Given the description of an element on the screen output the (x, y) to click on. 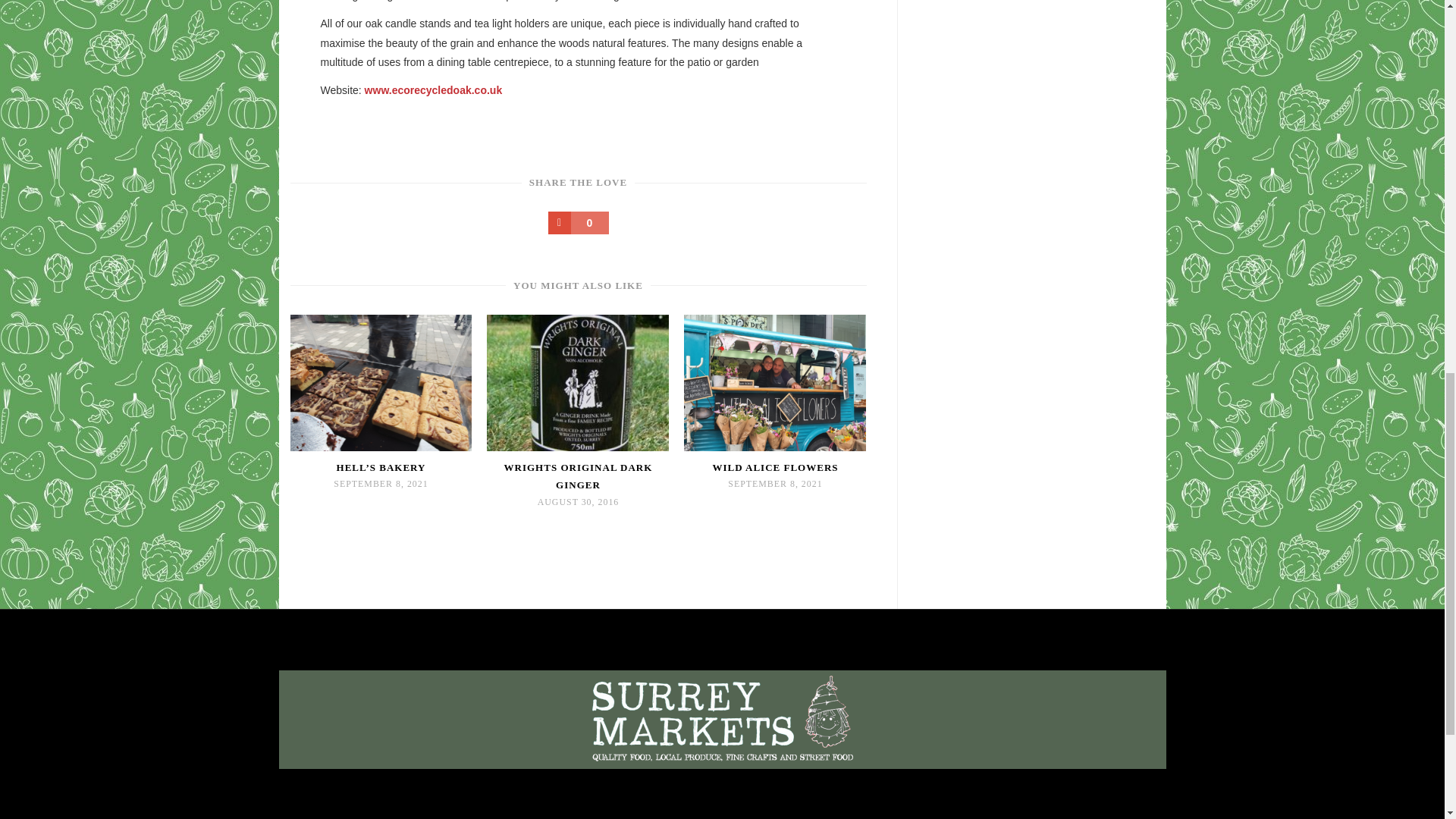
WRIGHTS ORIGINAL DARK GINGER (577, 476)
www.ecorecycledoak.co.uk (433, 90)
WILD ALICE FLOWERS (775, 466)
0 (577, 222)
